Given the description of an element on the screen output the (x, y) to click on. 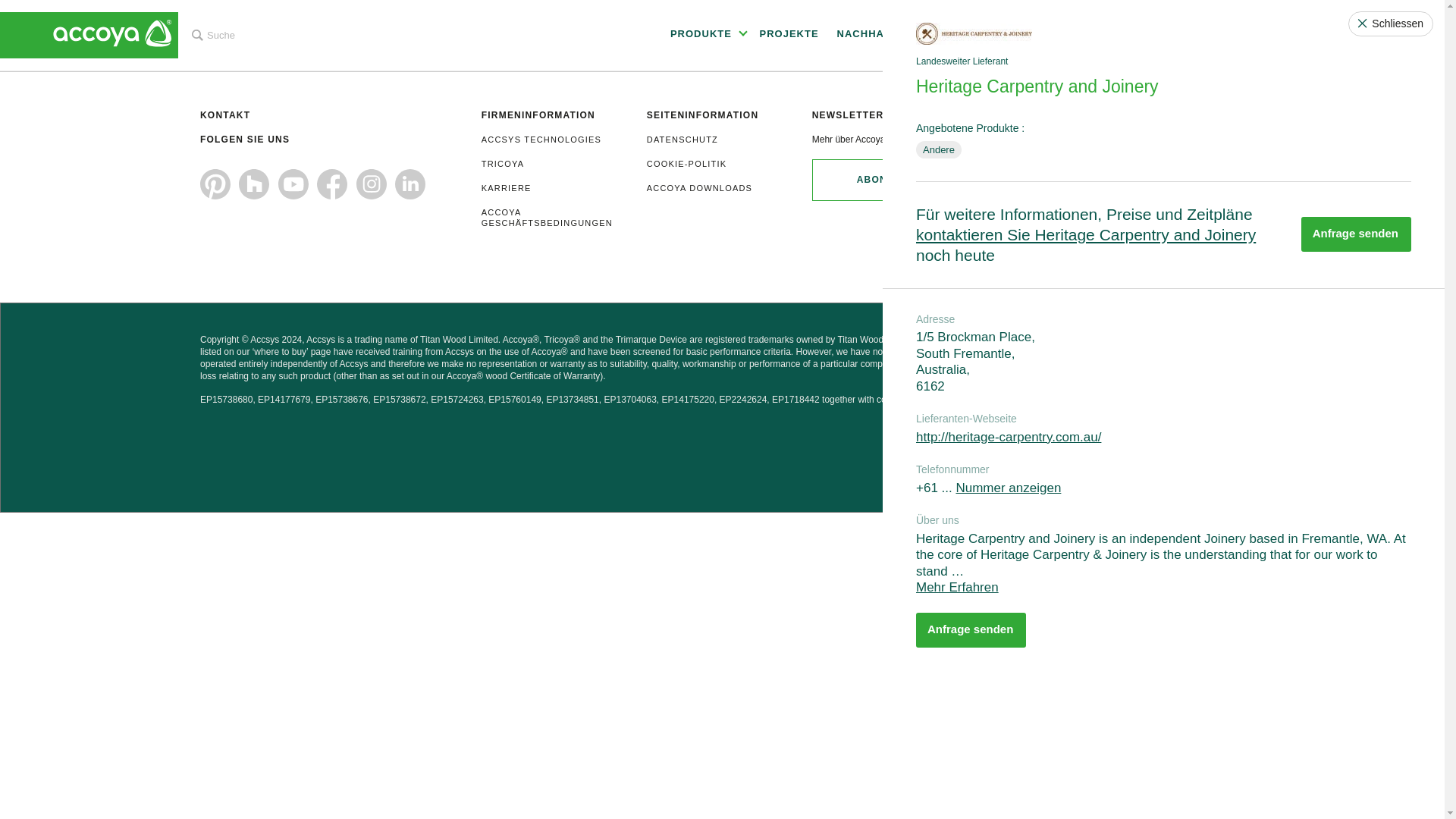
PROJEKTE (790, 34)
NACHHALTIGKEIT (892, 34)
PRODUKTE (707, 34)
ARCHITEKTEN (1057, 34)
